Given the description of an element on the screen output the (x, y) to click on. 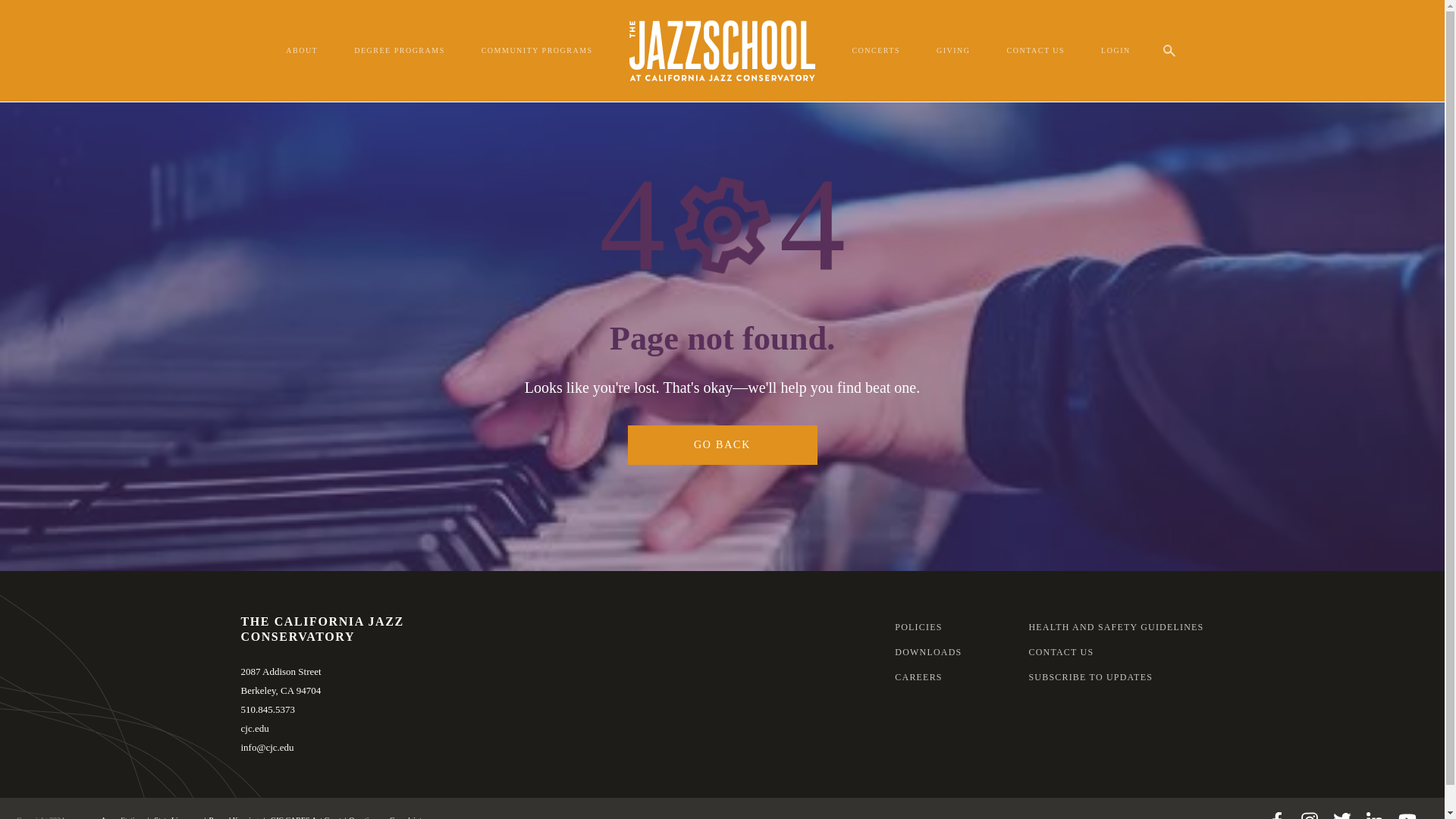
DEGREE PROGRAMS (399, 50)
COMMUNITY PROGRAMS (537, 50)
